Given the description of an element on the screen output the (x, y) to click on. 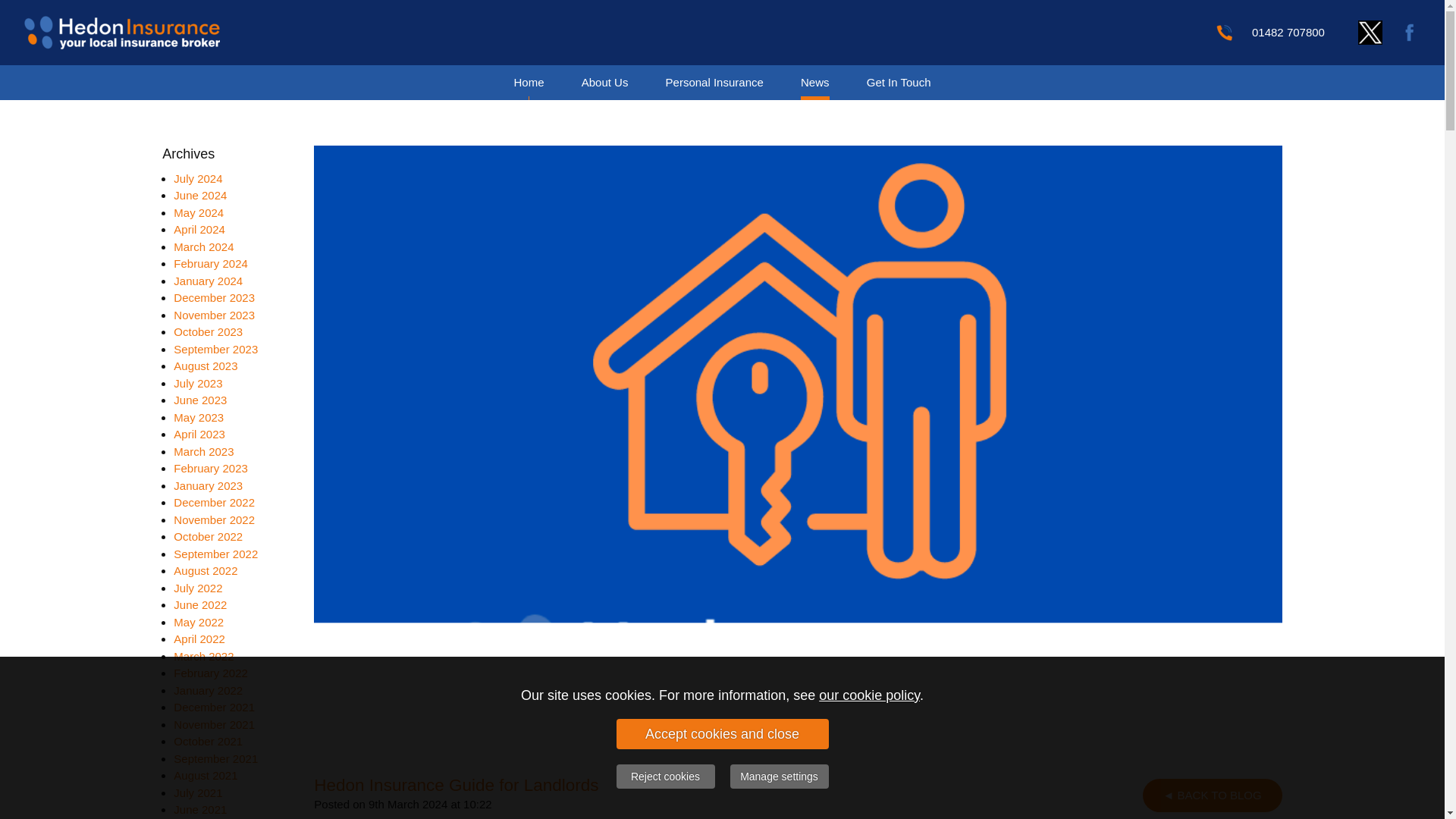
Home (528, 82)
News (815, 82)
March 2023 (202, 450)
May 2024 (198, 212)
Personal Insurance (713, 82)
June 2024 (200, 195)
July 2024 (197, 177)
About Us (605, 82)
November 2023 (213, 314)
January 2024 (208, 280)
